Given the description of an element on the screen output the (x, y) to click on. 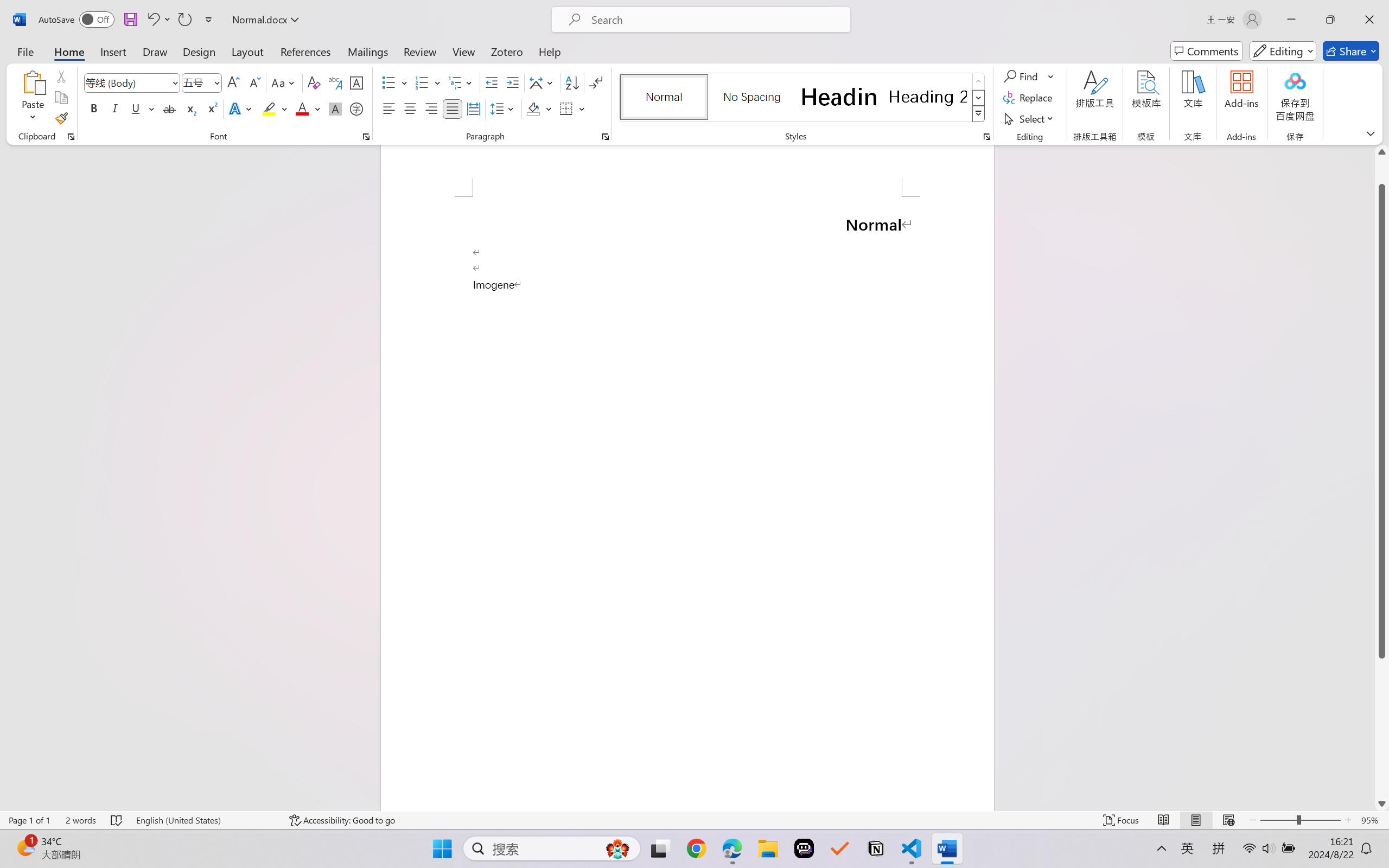
Text Highlight Color (274, 108)
Undo Style (152, 19)
Align Right (431, 108)
Open (215, 82)
Styles (978, 113)
Character Shading (334, 108)
Change Case (284, 82)
